Given the description of an element on the screen output the (x, y) to click on. 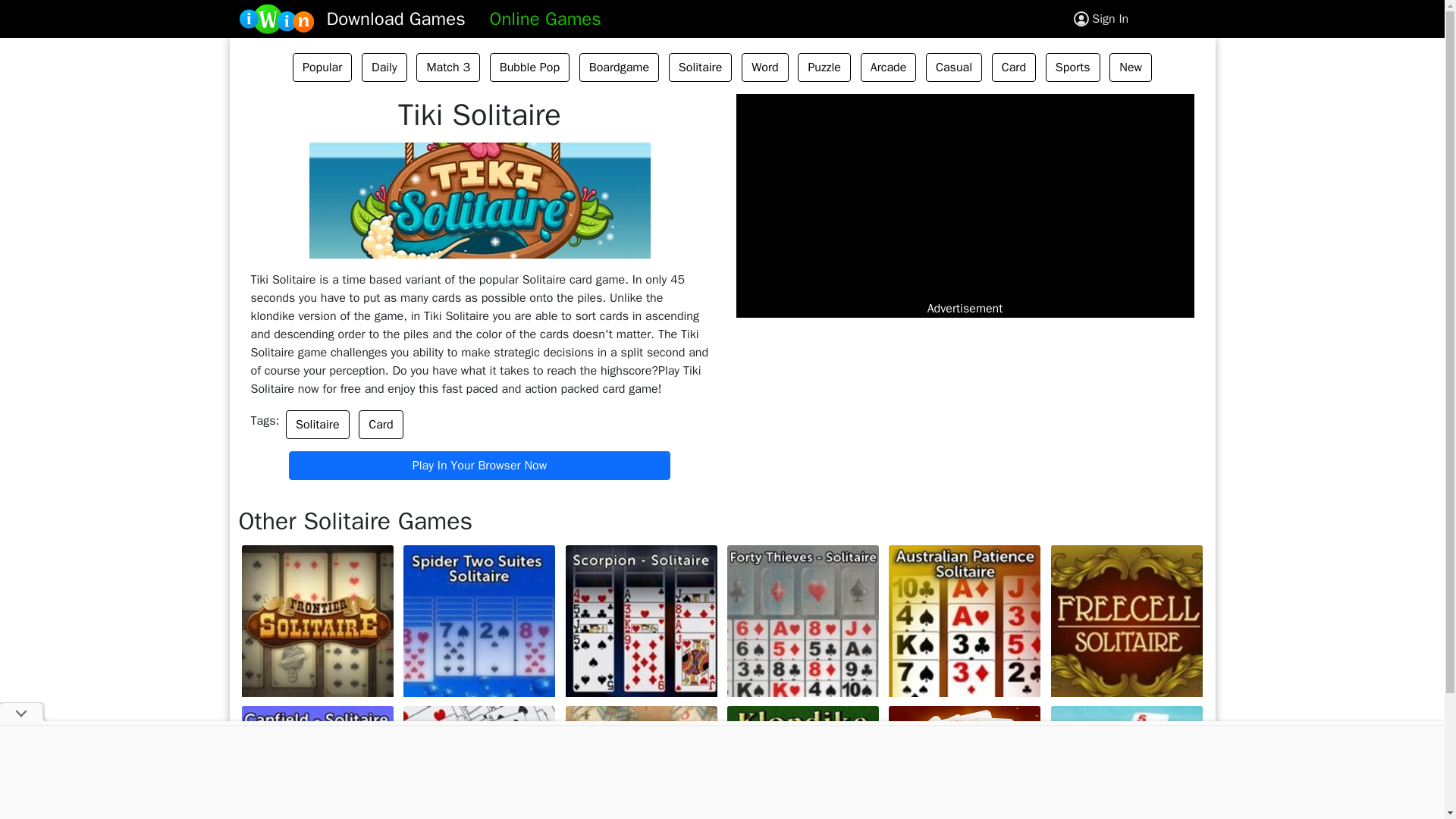
Online Games (544, 18)
Play In Your Browser Now (478, 465)
Word (764, 67)
Sign In (1110, 18)
Boardgame (619, 67)
Card (380, 424)
Casual (953, 67)
Arcade (888, 67)
Download Games (395, 18)
Bubble Pop (529, 67)
Solitaire (317, 424)
Card (1013, 67)
Match 3 (448, 67)
Popular (322, 67)
New (1130, 67)
